Given the description of an element on the screen output the (x, y) to click on. 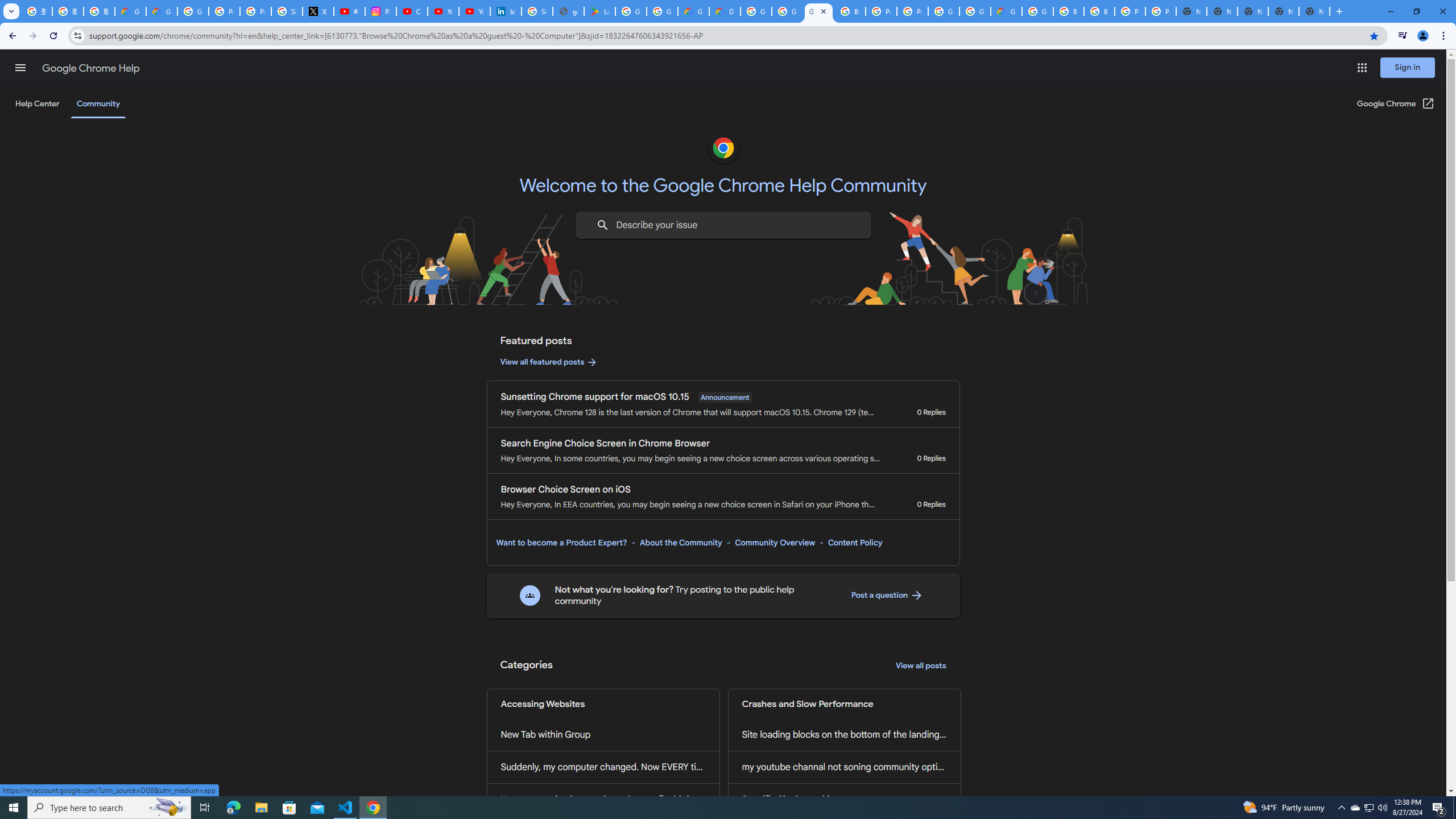
#nbabasketballhighlights - YouTube (349, 11)
Google Chrome Help (90, 68)
Describe your issue to find information that might help you. (722, 225)
View all featured posts (548, 361)
Google Cloud Estimate Summary (1005, 11)
View all posts (920, 665)
Want to become a Product Expert? (561, 542)
